Given the description of an element on the screen output the (x, y) to click on. 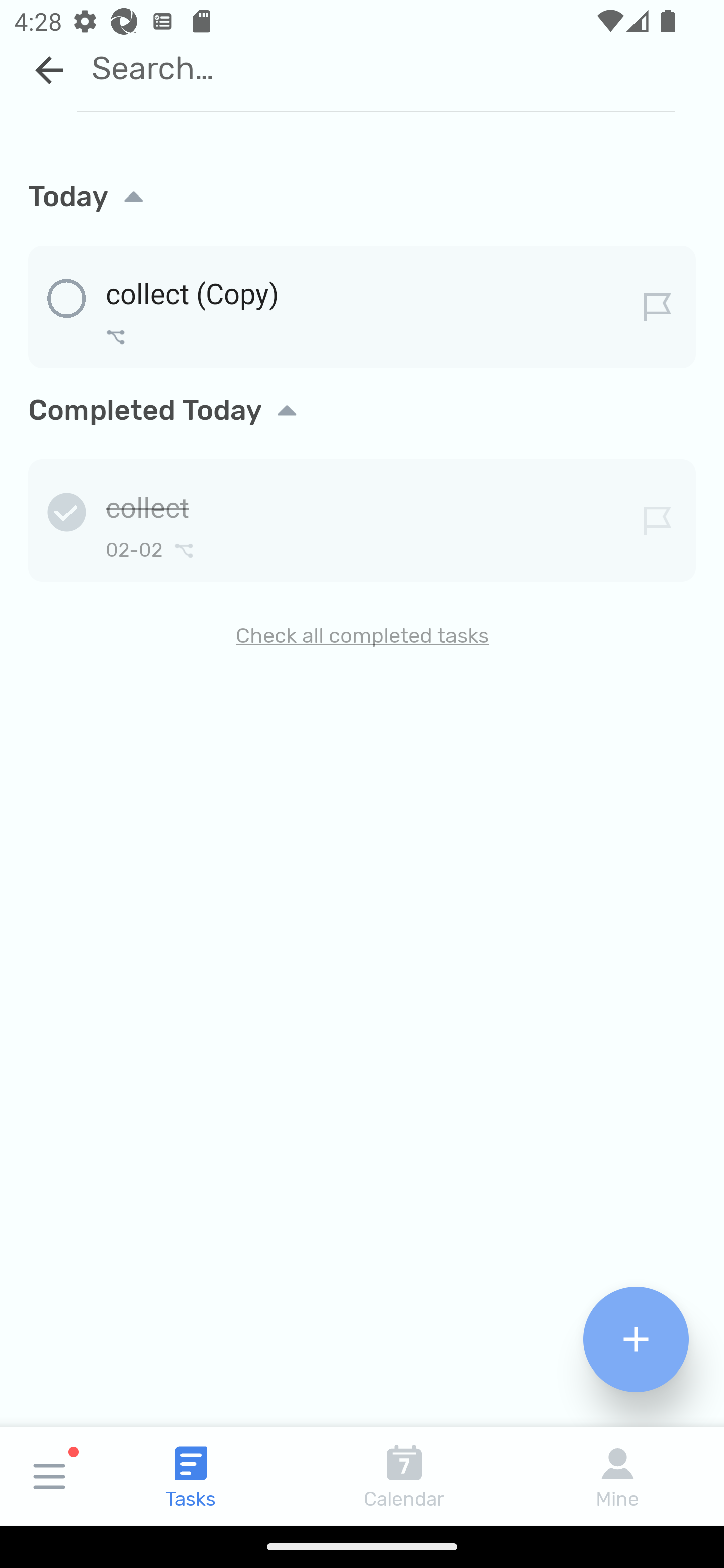
Search… (375, 68)
Today (362, 182)
collect (Copy) (362, 303)
Completed Today (362, 409)
collect 02-02 (362, 516)
Check all completed tasks (361, 635)
Tasks (190, 1475)
Calendar (404, 1475)
Mine (617, 1475)
